Given the description of an element on the screen output the (x, y) to click on. 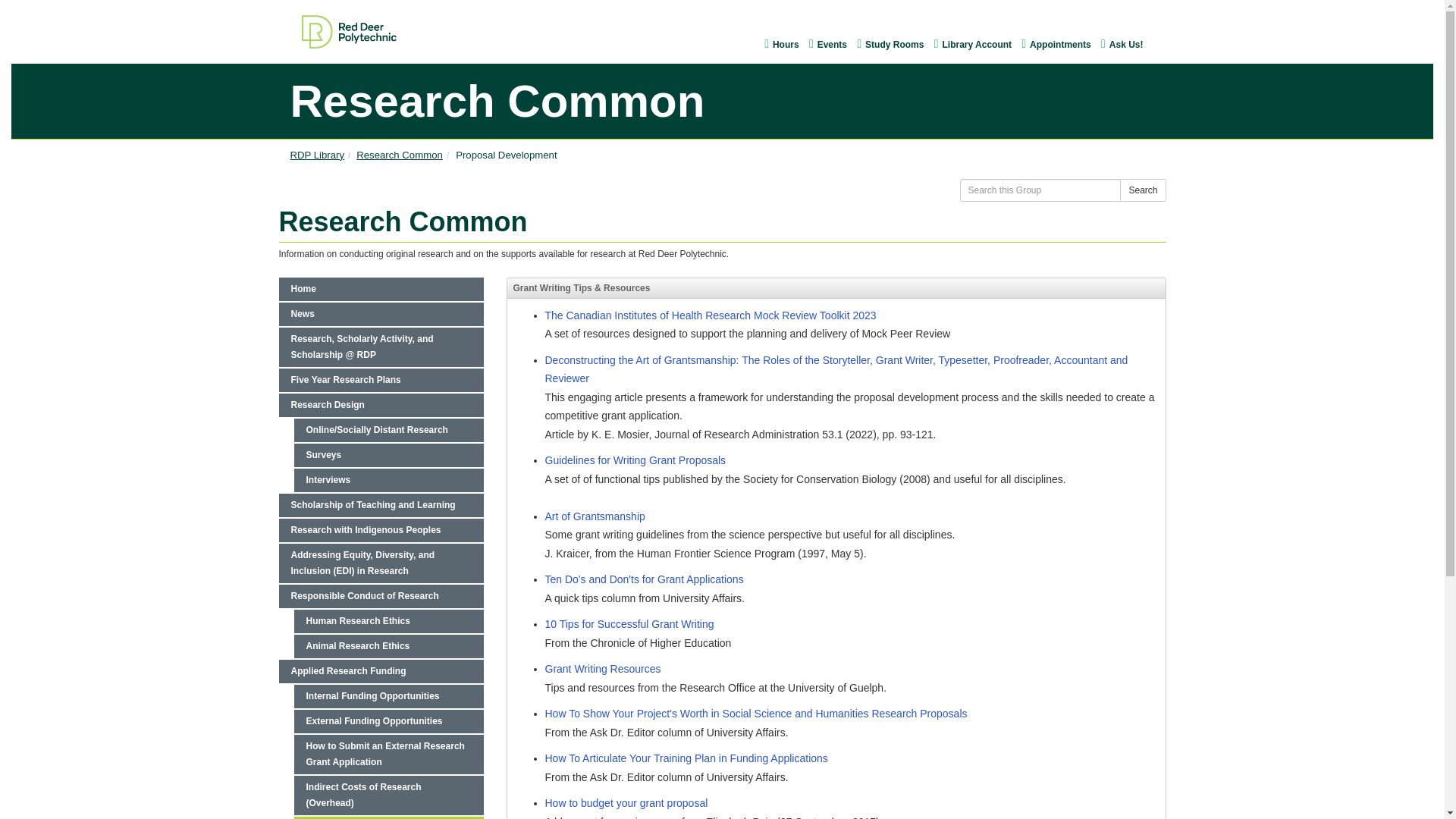
Appointments (1051, 44)
Home (381, 289)
Scholarship of Teaching and Learning (381, 504)
How to Submit an External Research Grant Application (388, 753)
Ask Us! (1101, 43)
Hours (777, 44)
Internal Funding Opportunities (388, 696)
Human Research Ethics (388, 621)
Hours (765, 43)
Five Year Research Plans (381, 380)
